Given the description of an element on the screen output the (x, y) to click on. 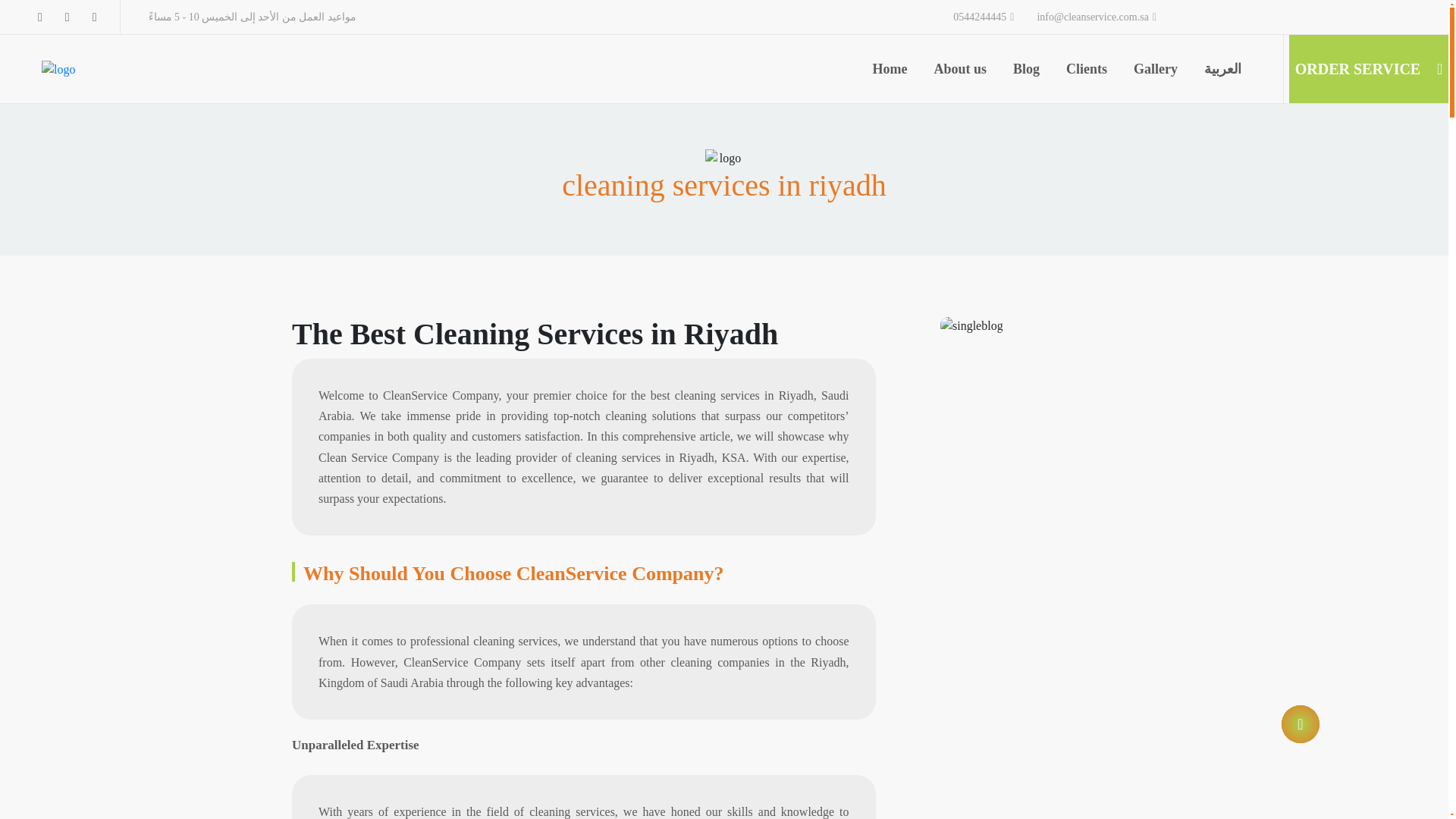
Home (889, 68)
Clients (1085, 68)
About us (960, 68)
Gallery (1155, 68)
0544244445 (983, 17)
Blog (1026, 68)
